Given the description of an element on the screen output the (x, y) to click on. 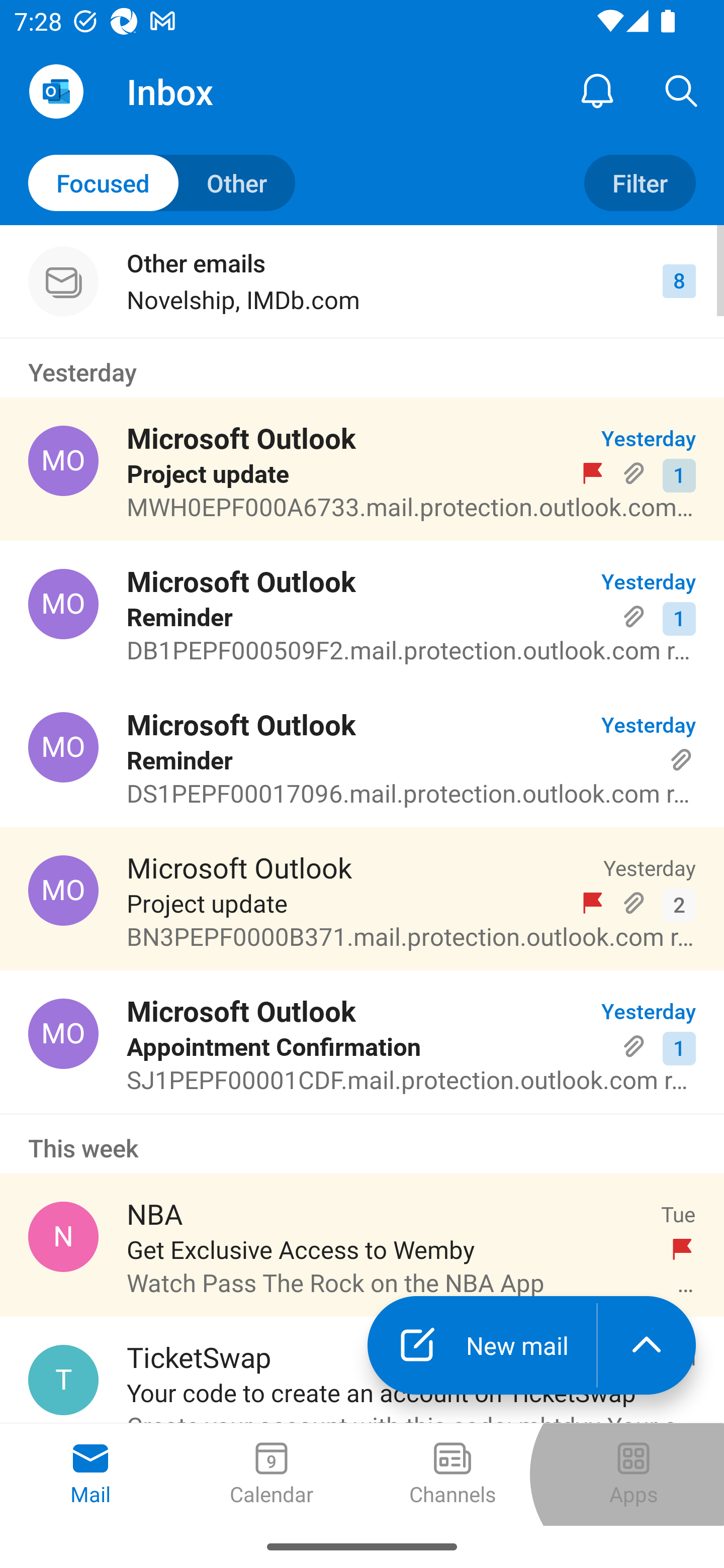
Notification Center (597, 90)
Search, ,  (681, 90)
Open Navigation Drawer (55, 91)
Toggle to other mails (161, 183)
Filter (639, 183)
Other emails Novelship, IMDb.com 8 (362, 281)
NBA, NBA@email.nba.com (63, 1236)
New mail (481, 1344)
launch the extended action menu (646, 1344)
TicketSwap, info@ticketswap.com (63, 1380)
Calendar (271, 1474)
Channels (452, 1474)
Apps (633, 1474)
